Given the description of an element on the screen output the (x, y) to click on. 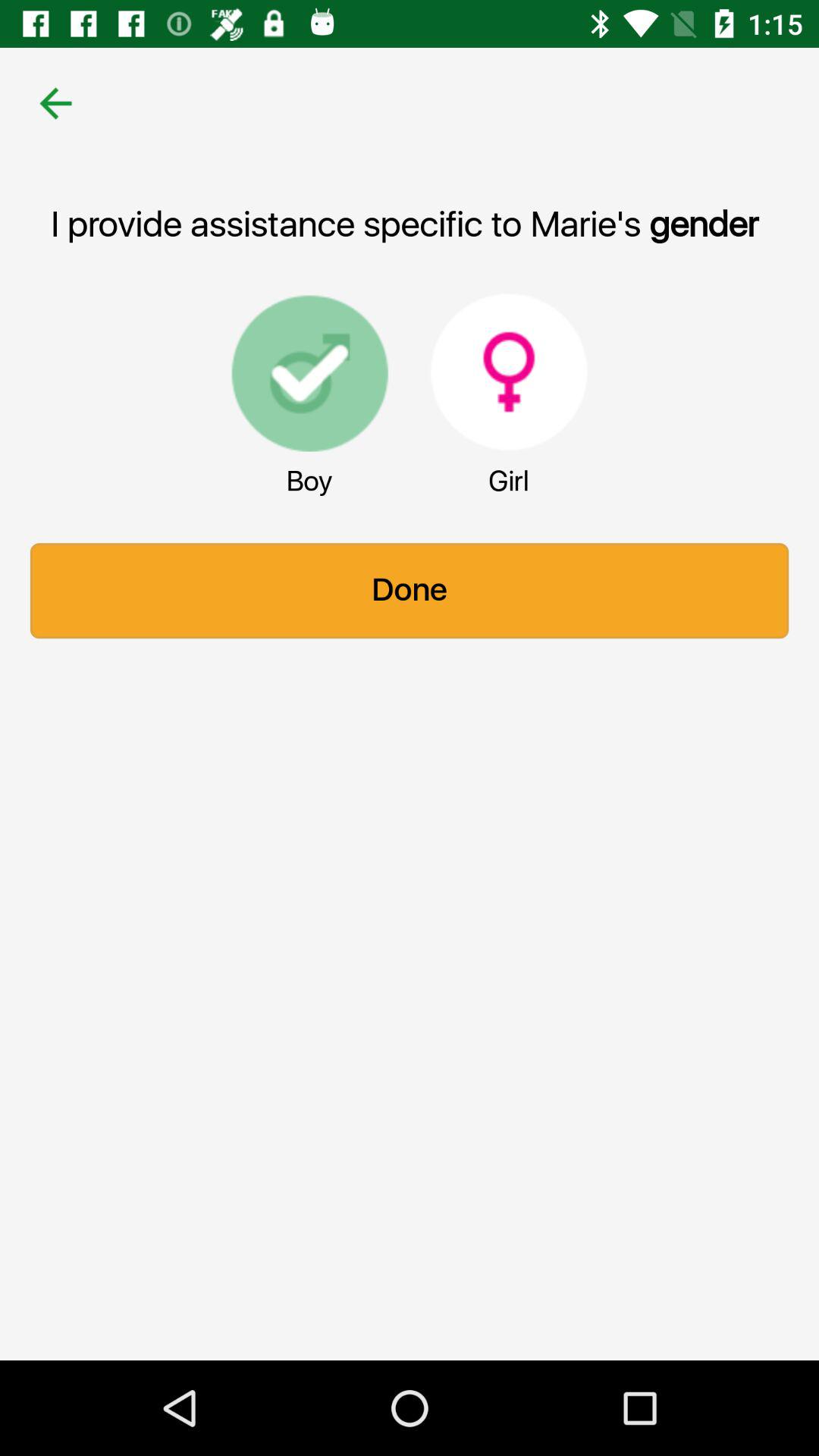
flip until done (409, 590)
